Given the description of an element on the screen output the (x, y) to click on. 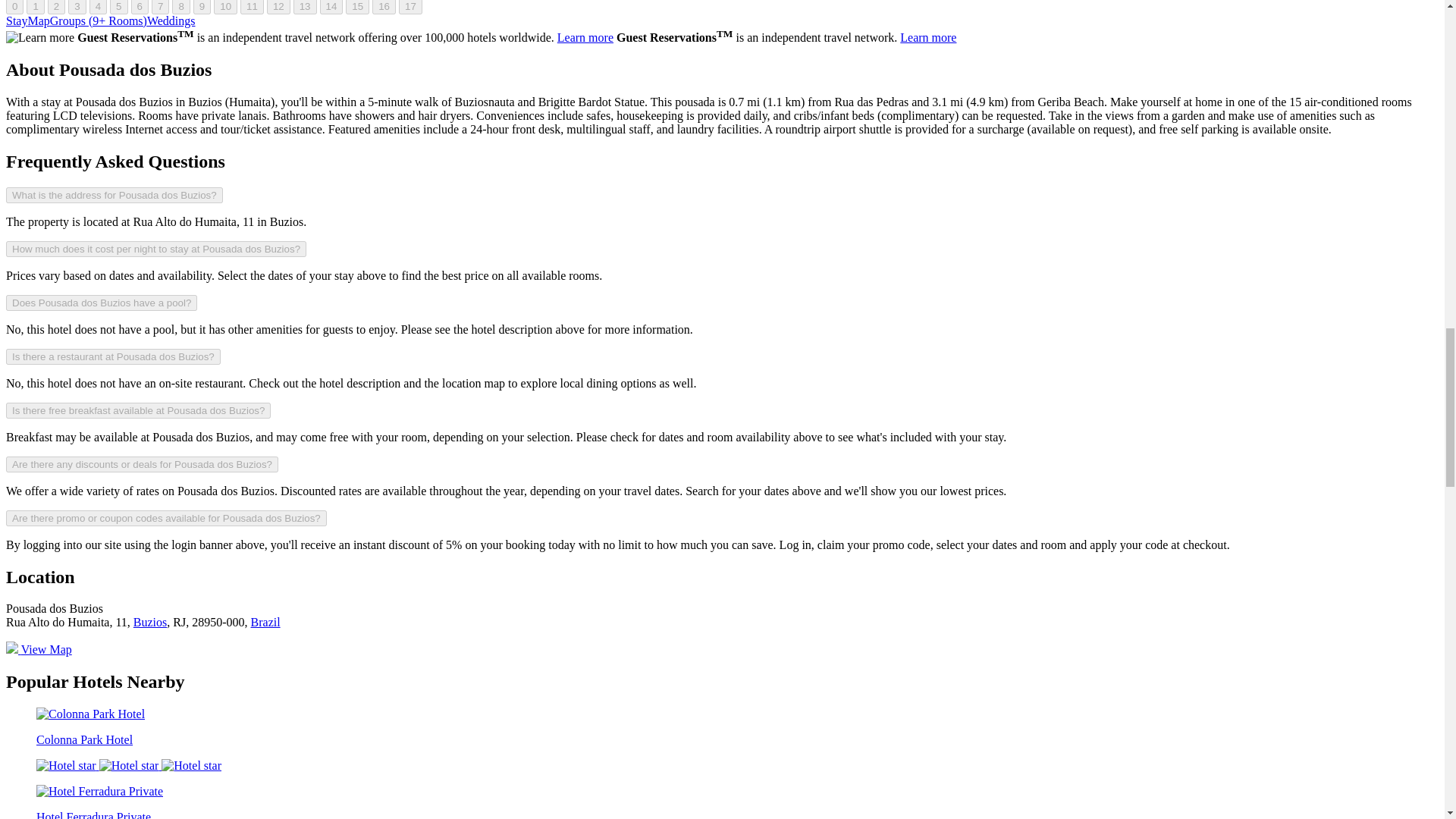
Learn more (584, 37)
Learn more (39, 38)
Weddings (171, 20)
Map (38, 20)
Stay (16, 20)
